Given the description of an element on the screen output the (x, y) to click on. 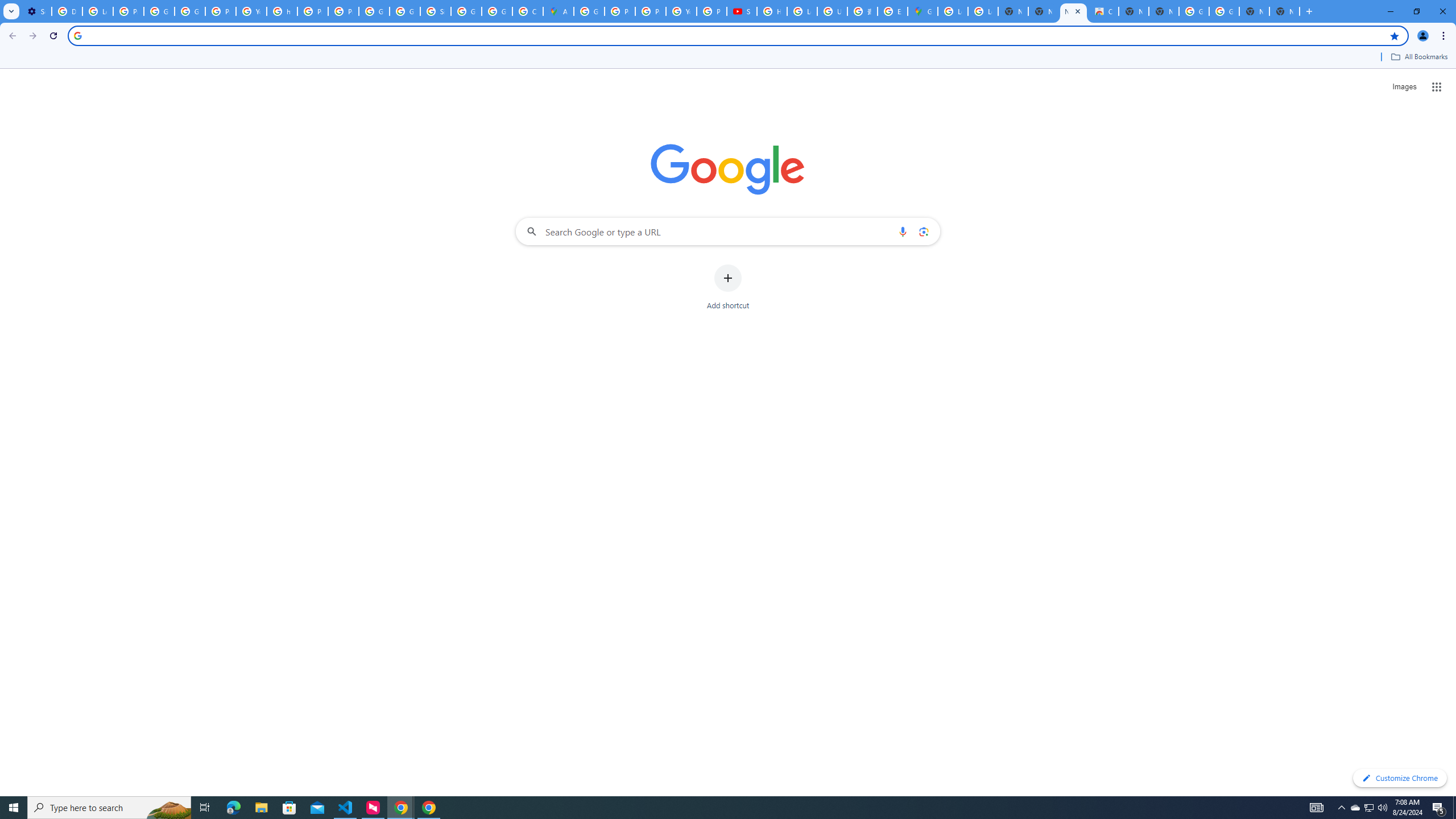
YouTube (681, 11)
Add shortcut (727, 287)
Search Google or type a URL (727, 230)
How Chrome protects your passwords - Google Chrome Help (771, 11)
